Given the description of an element on the screen output the (x, y) to click on. 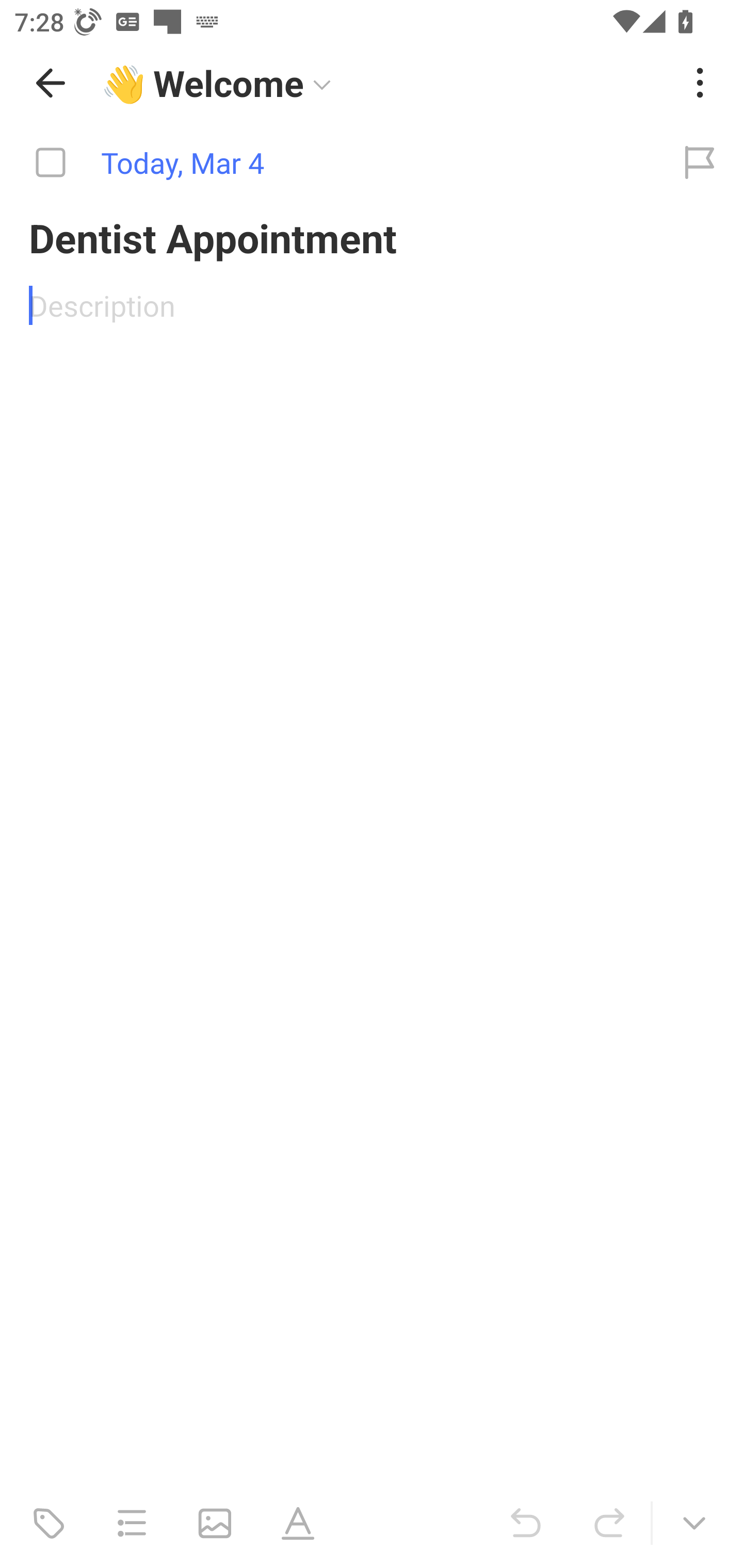
👋 Welcome (384, 82)
Today, Mar 4  (328, 163)
Dentist Appointment (371, 237)
Description (371, 304)
